Given the description of an element on the screen output the (x, y) to click on. 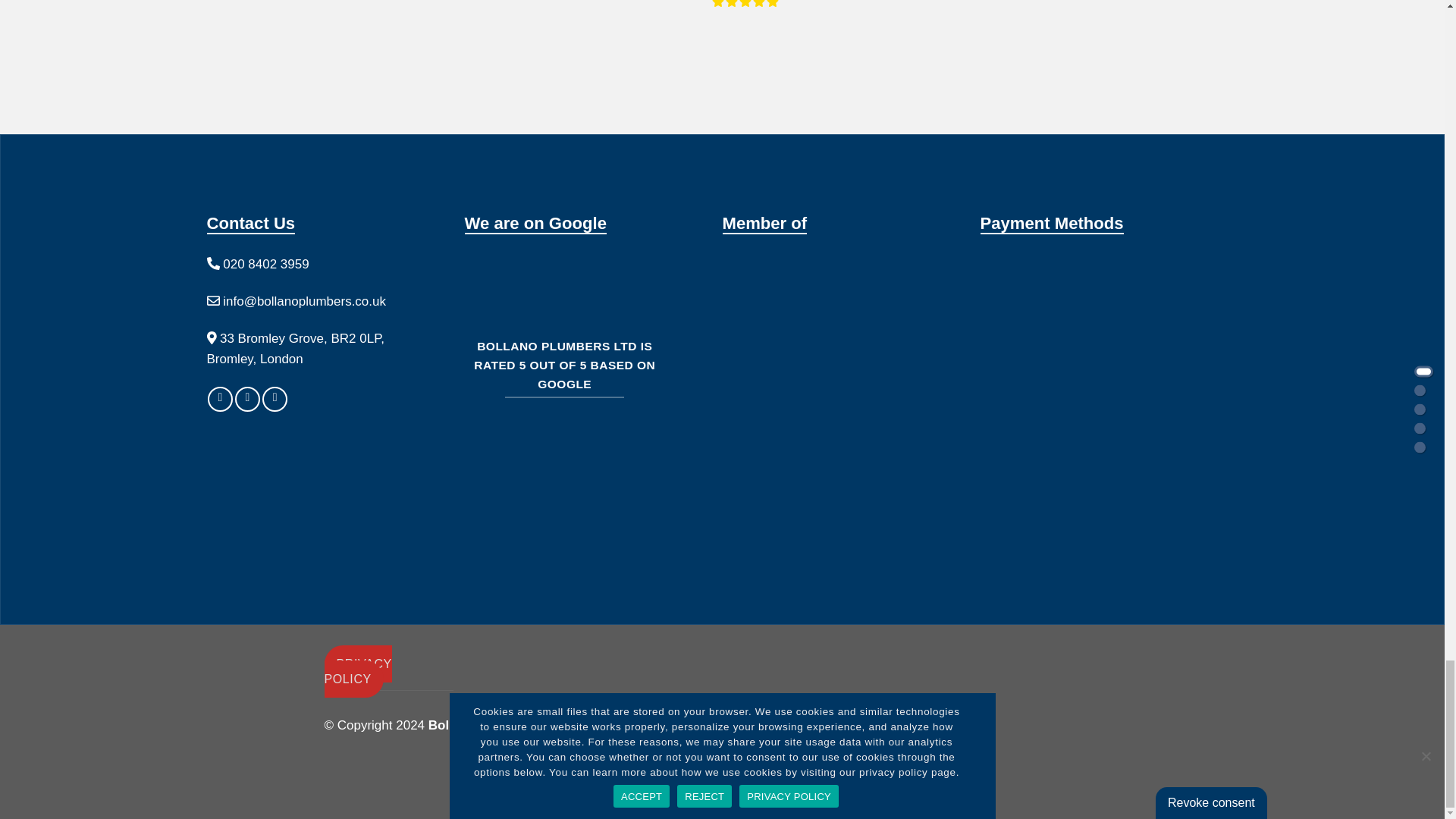
Follow on Facebook (220, 398)
